Given the description of an element on the screen output the (x, y) to click on. 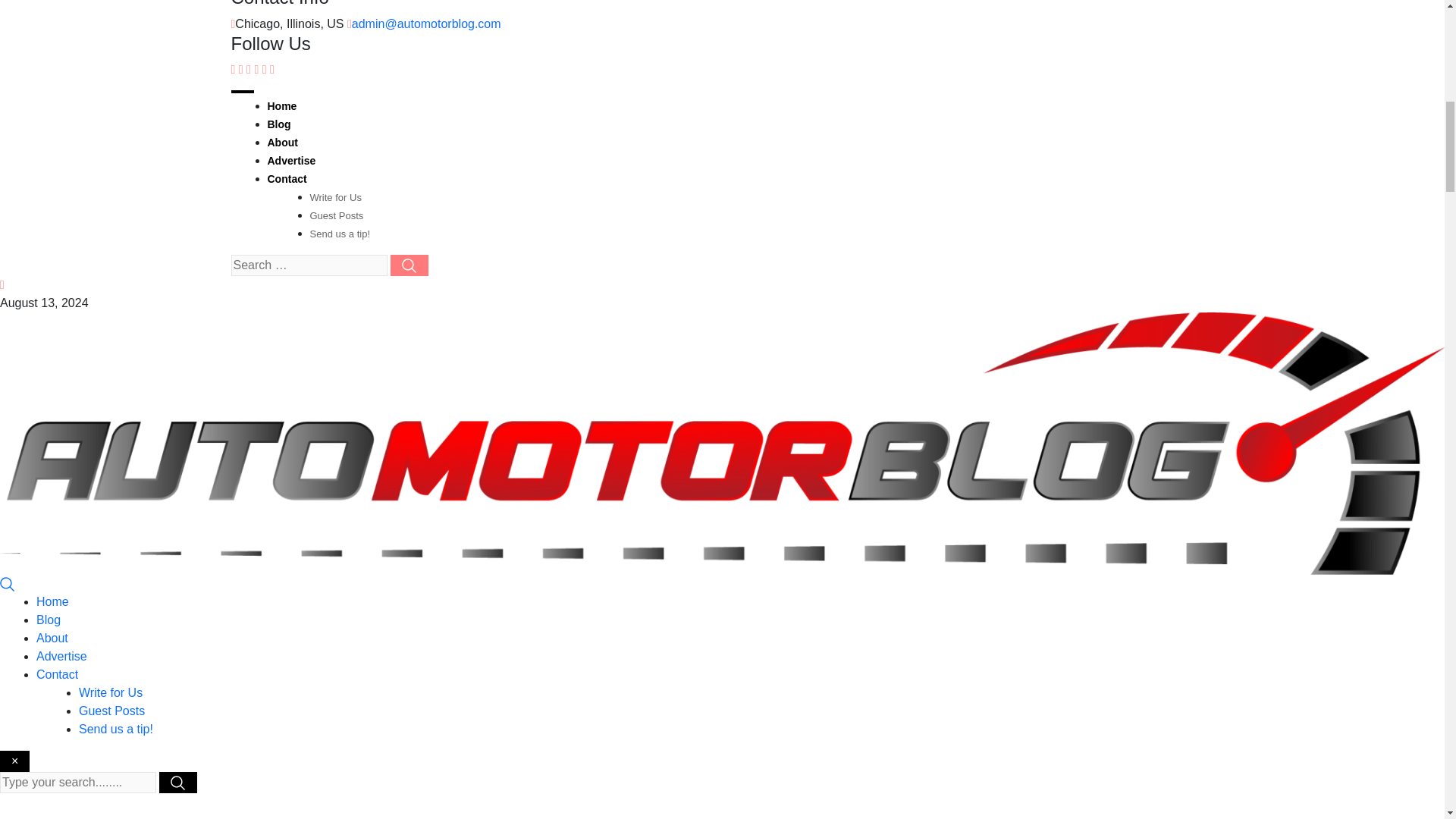
Advertise (61, 656)
Blog (48, 619)
Advertise (290, 160)
Contact (285, 178)
Home (281, 105)
Blog (277, 123)
About (281, 142)
Write for Us (334, 197)
Guest Posts (111, 710)
Contact (57, 674)
